Given the description of an element on the screen output the (x, y) to click on. 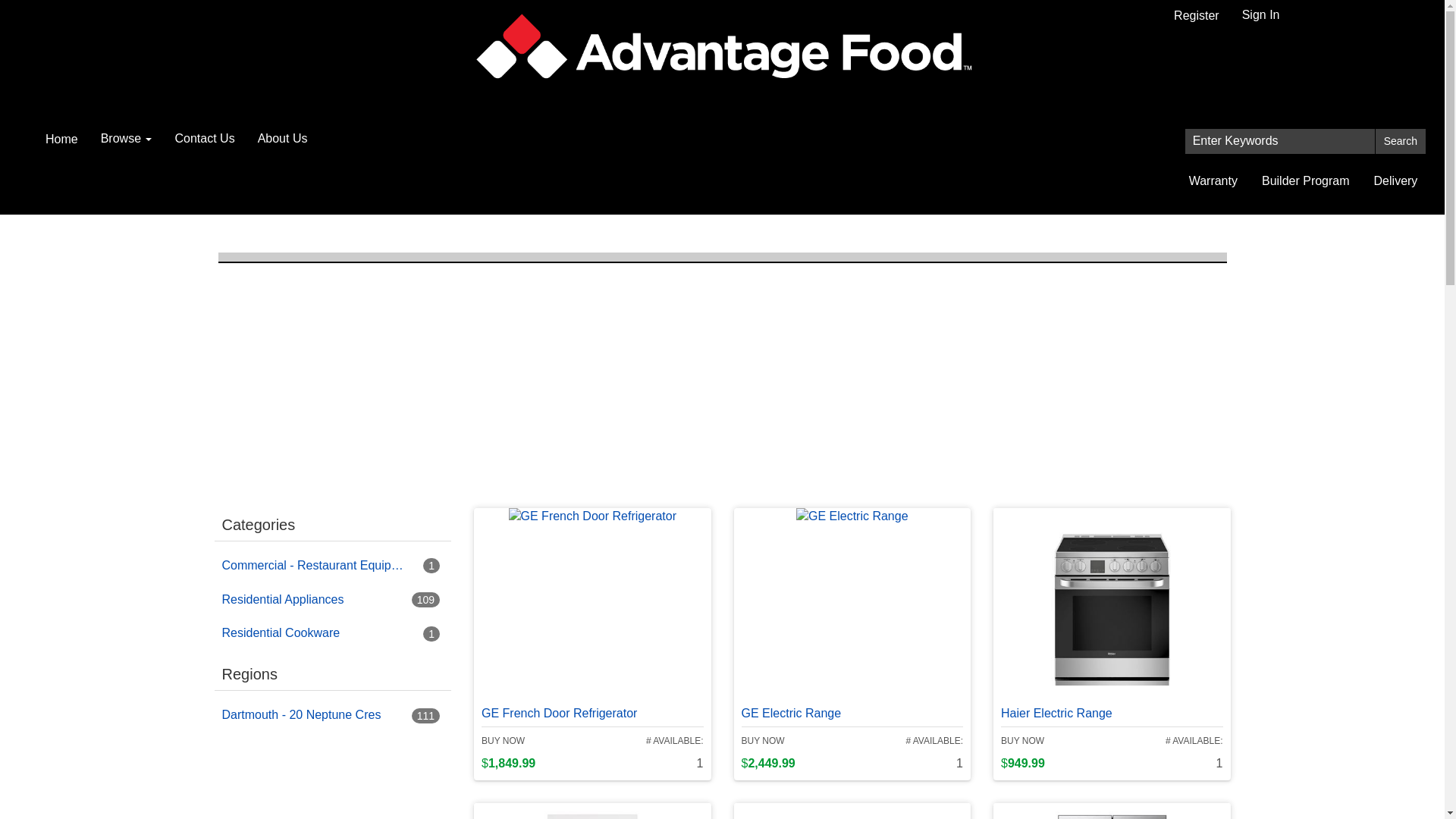
Search Element type: text (1400, 140)
Delivery Element type: text (1395, 181)
Commercial - Restaurant Equipment
1 Element type: text (336, 565)
 
Haier Electric Range Element type: text (1056, 706)
About Us Element type: text (282, 138)
Browse Element type: text (126, 138)
Builder Program Element type: text (1305, 181)
Warranty Element type: text (1212, 181)
 
GE French Door Refrigerator Element type: text (559, 706)
Residential Appliances
109 Element type: text (336, 599)
Contact Us Element type: text (204, 138)
Residential Cookware
1 Element type: text (336, 633)
Dartmouth - 20 Neptune Cres
111 Element type: text (336, 715)
 
GE Electric Range Element type: text (791, 706)
Home Element type: text (61, 139)
